Given the description of an element on the screen output the (x, y) to click on. 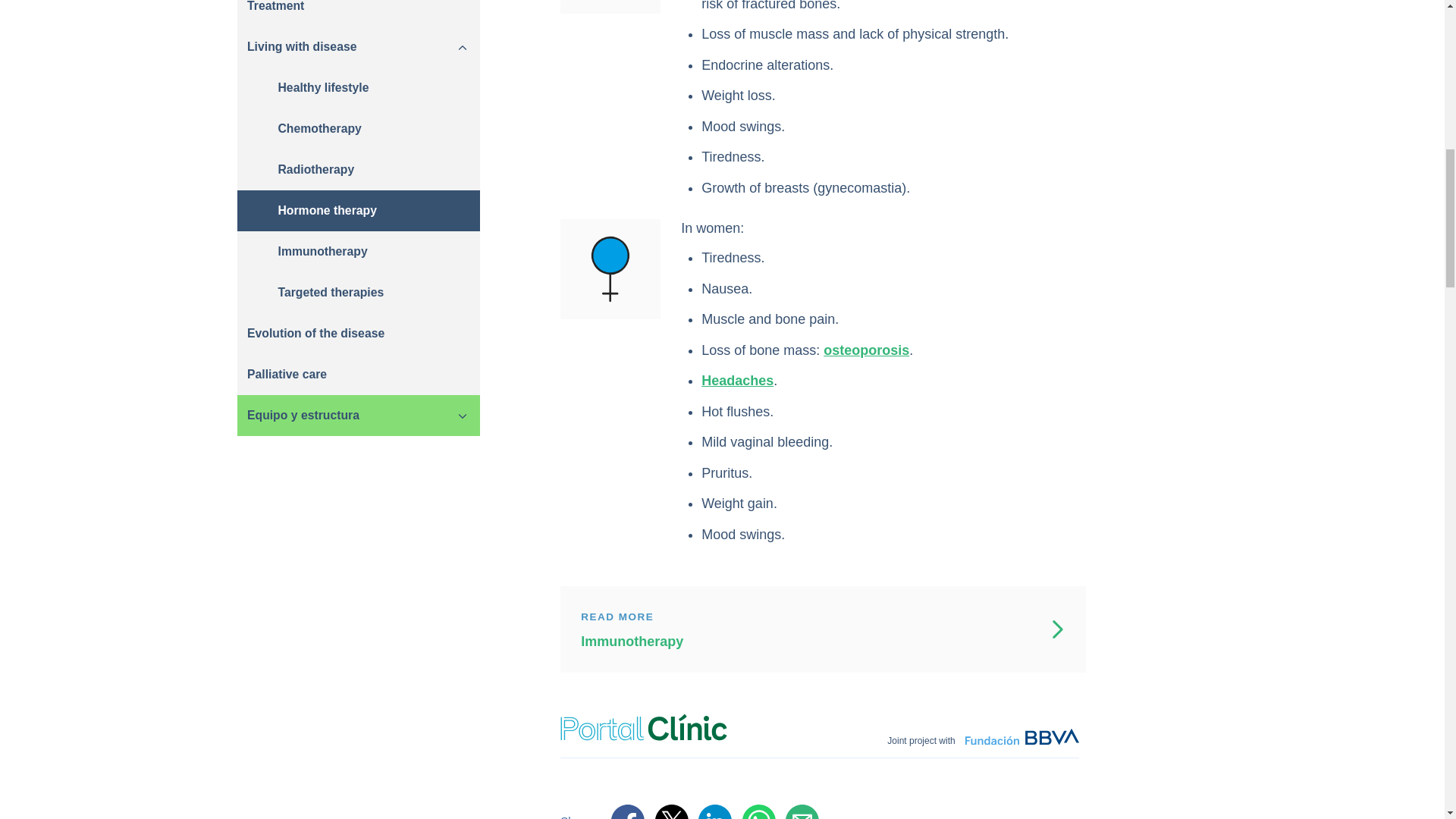
Share Facebook (628, 811)
Share LinkedIn (715, 811)
Share Whatsapp (759, 811)
Share e-Mail (802, 811)
Share Twitter (671, 811)
